Given the description of an element on the screen output the (x, y) to click on. 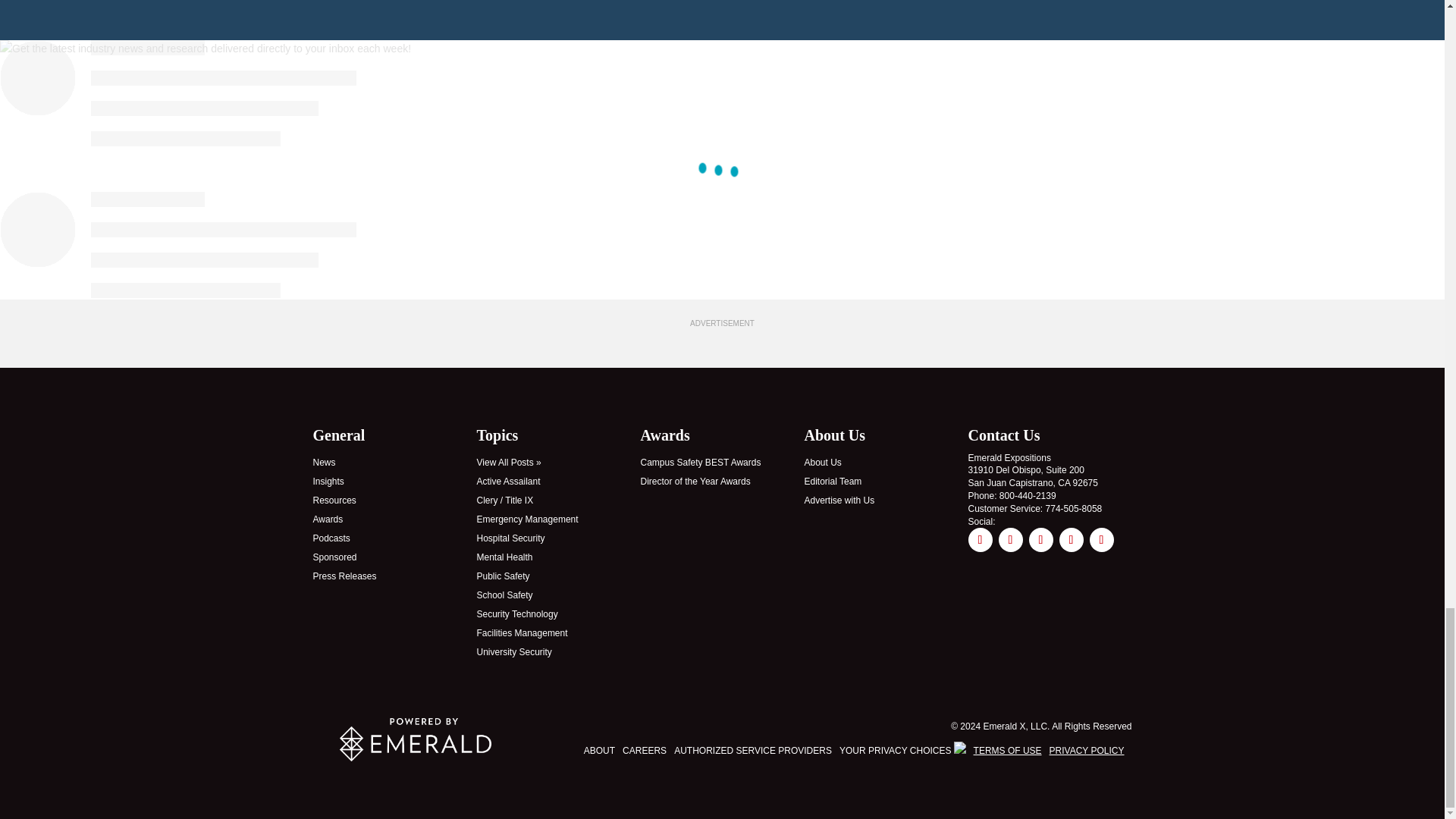
Follow on Facebook (979, 539)
